Given the description of an element on the screen output the (x, y) to click on. 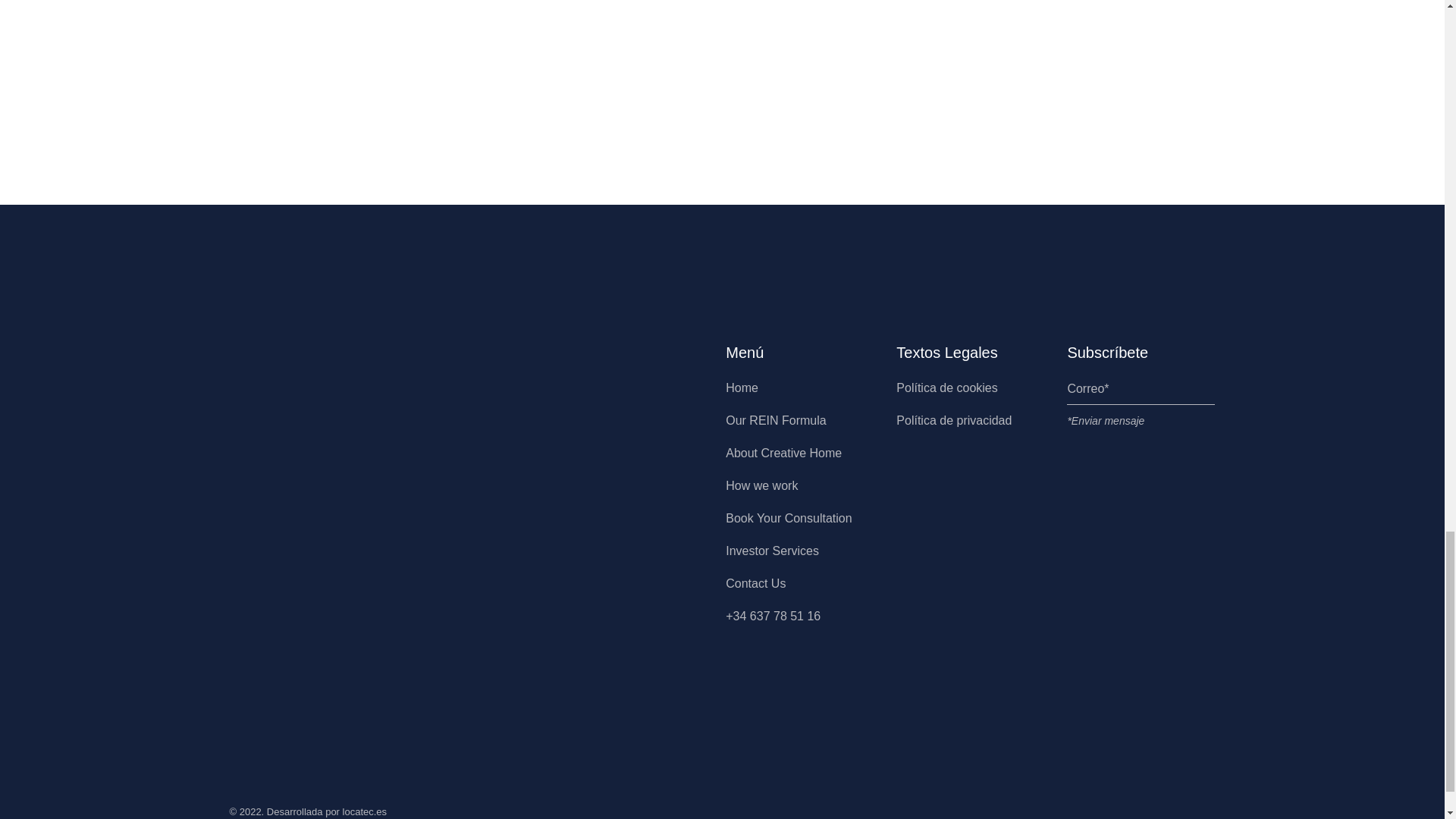
Home (741, 387)
About Creative Home (783, 452)
How we work (761, 485)
Book Your Consultation (788, 517)
Our REIN Formula (775, 420)
